Given the description of an element on the screen output the (x, y) to click on. 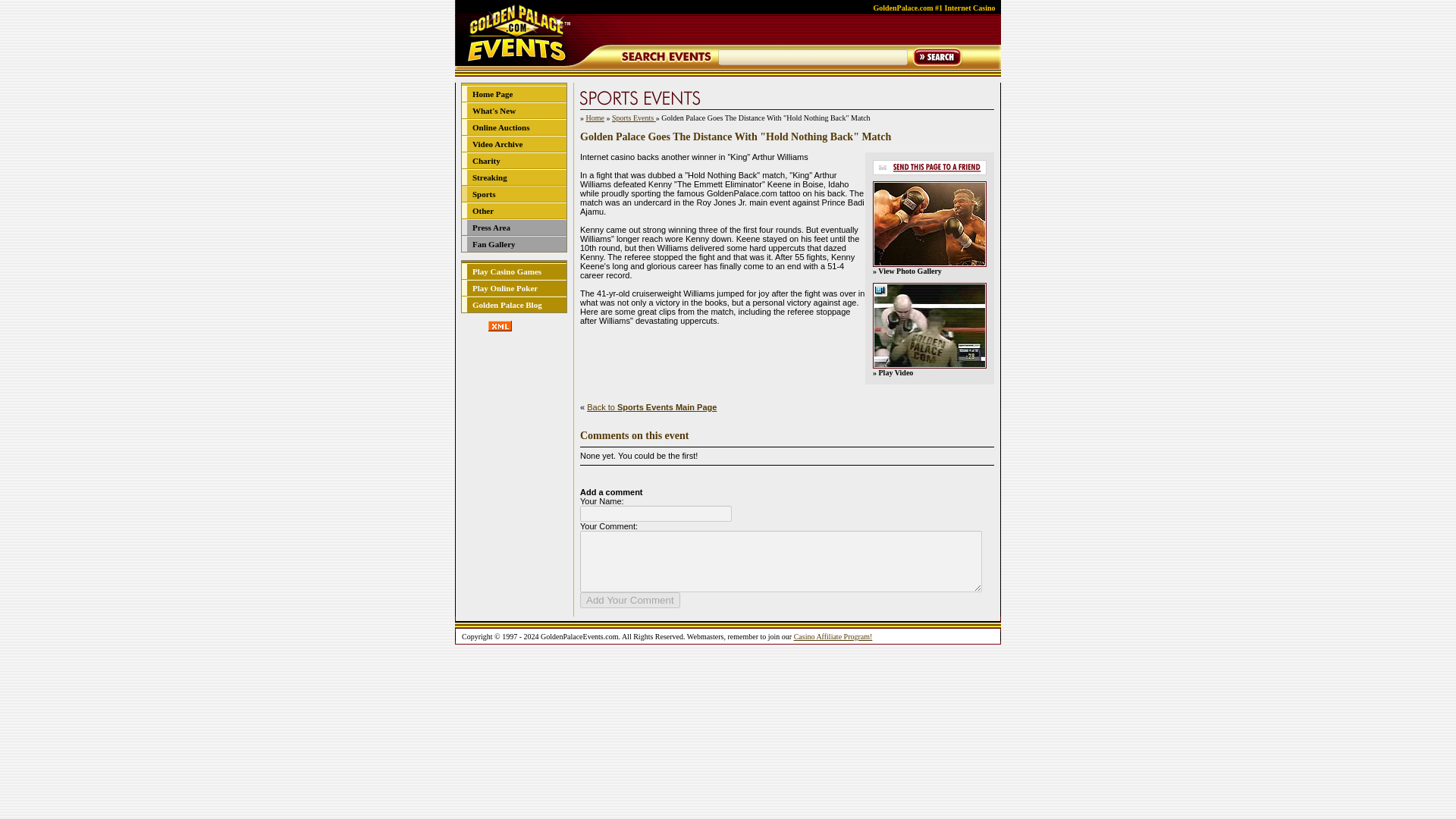
Fan Gallery (493, 243)
Charity (485, 160)
Sports Events (633, 117)
Home (594, 117)
Streaking (488, 176)
Video Archive (496, 143)
Other (482, 210)
Play Online Poker (504, 287)
Back to Sports Events Main Page (651, 406)
Play Casino Games (506, 271)
